Given the description of an element on the screen output the (x, y) to click on. 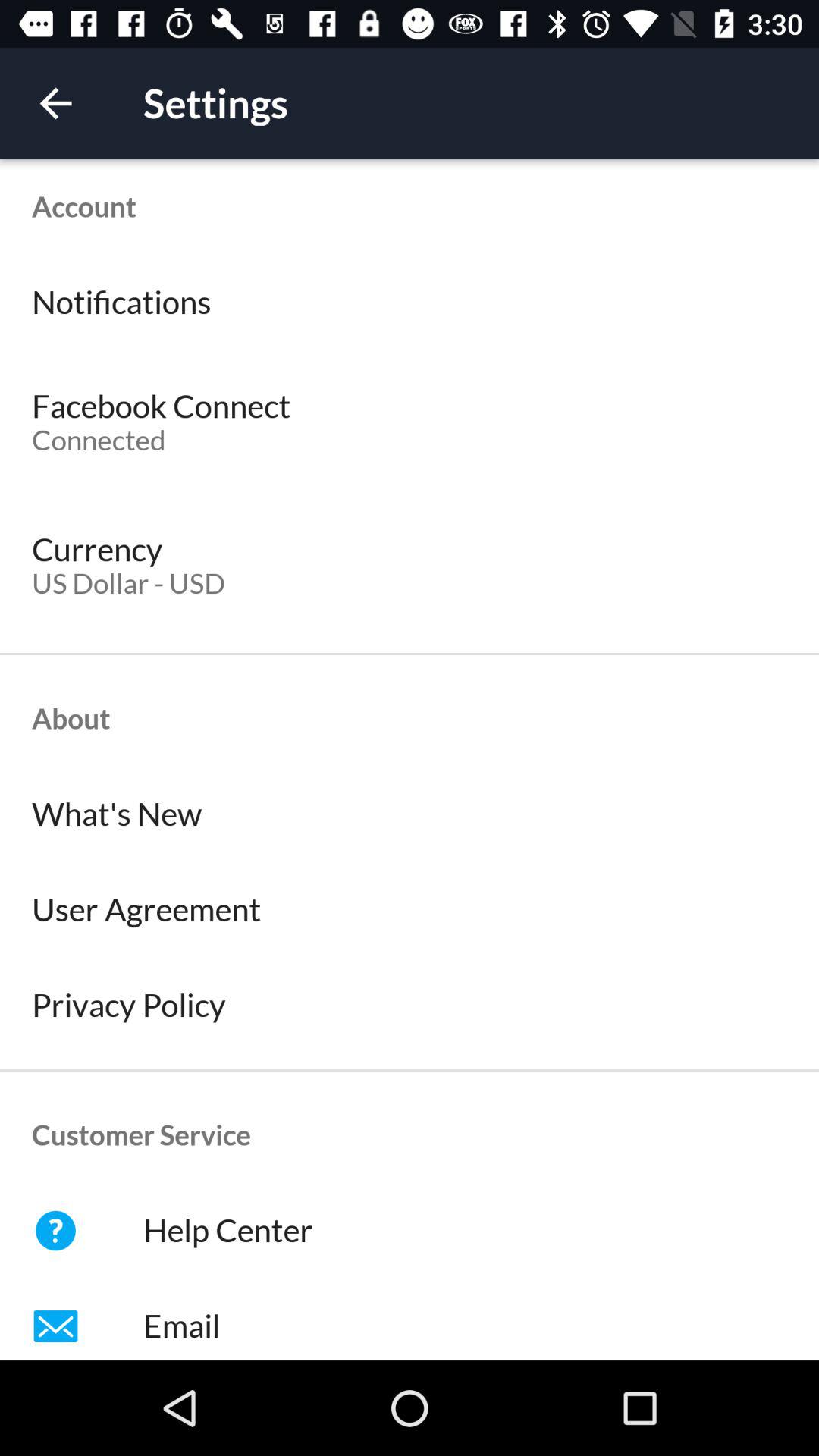
tap icon above account icon (55, 103)
